Given the description of an element on the screen output the (x, y) to click on. 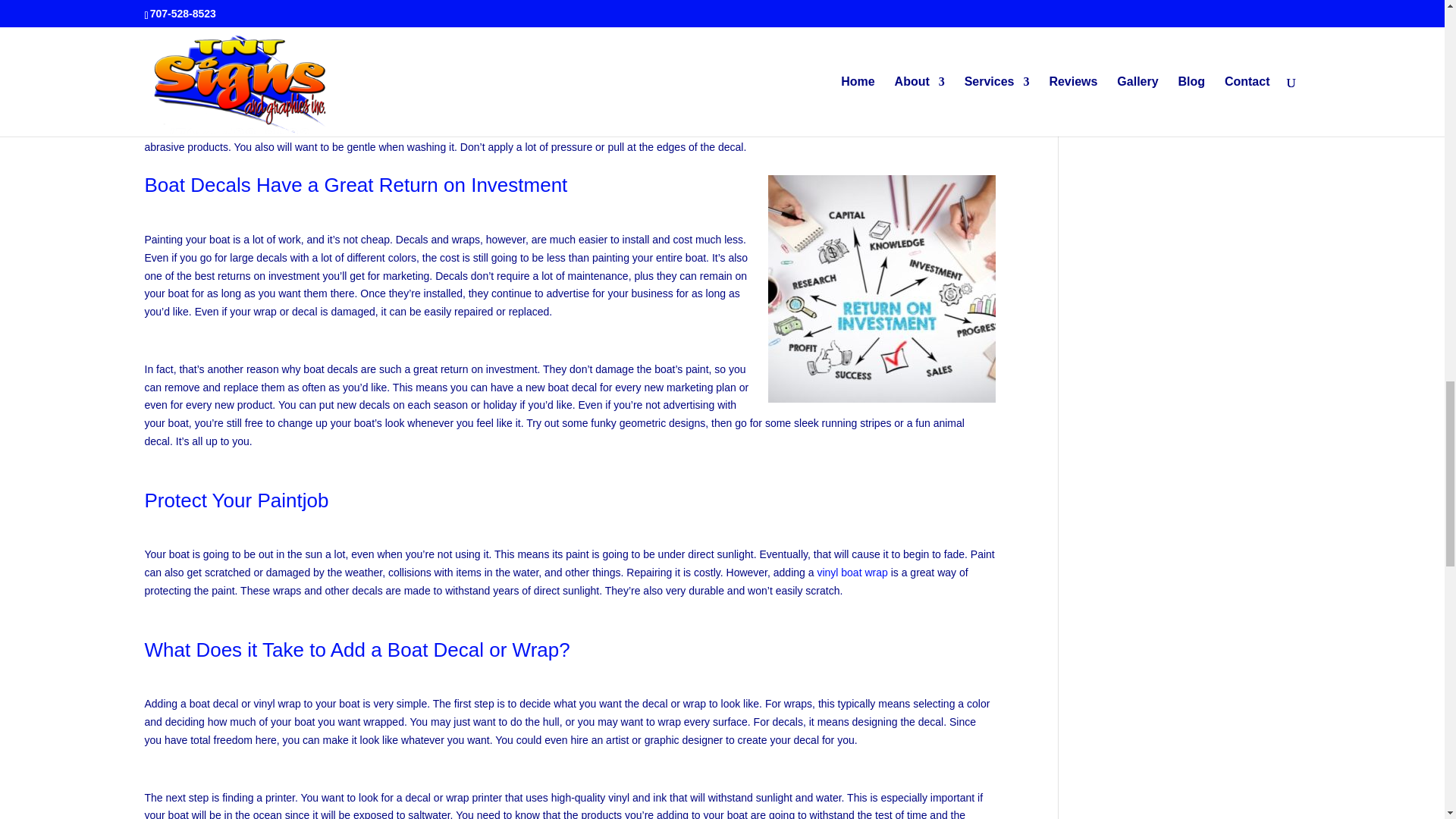
vinyl boat wrap (851, 572)
